Given the description of an element on the screen output the (x, y) to click on. 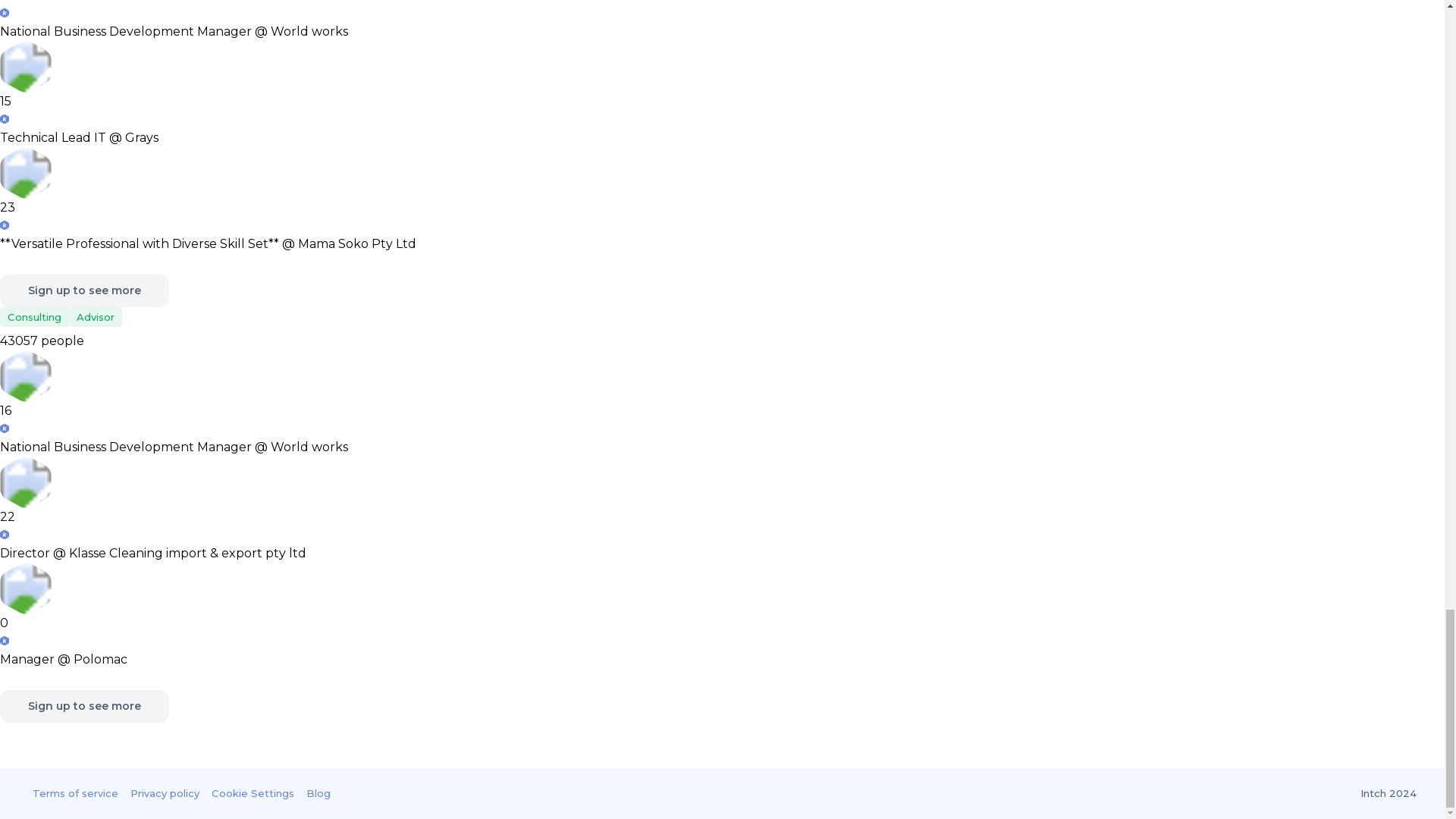
Privacy policy (165, 793)
Sign up to see more (84, 706)
Blog (317, 793)
Sign up to see more (84, 290)
Cookie Settings (252, 793)
Terms of service (74, 793)
